Given the description of an element on the screen output the (x, y) to click on. 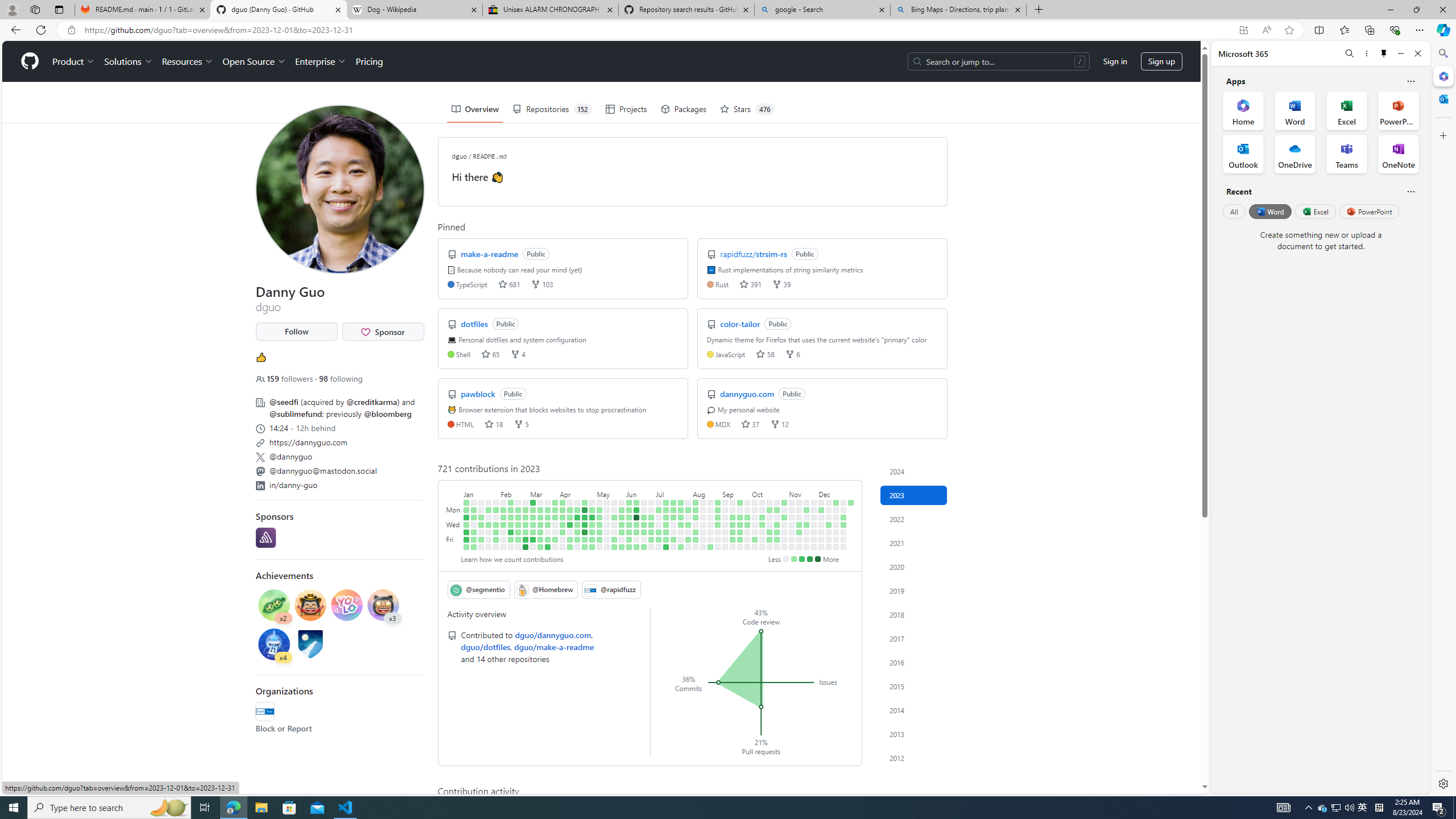
1 contribution on February 3rd. (496, 539)
Dog - Wikipedia (414, 9)
19 contributions on April 27th. (585, 531)
No contributions on January 21st. (481, 546)
@getsentry (264, 537)
No contributions on October 3rd. (754, 517)
7 contributions on May 8th. (599, 509)
No contributions on October 5th. (754, 531)
No contributions on April 9th. (569, 502)
No contributions on June 23rd. (643, 539)
2 contributions on July 6th. (658, 531)
September (736, 492)
No contributions on December 18th. (836, 509)
1 contribution on November 16th. (799, 531)
